Given the description of an element on the screen output the (x, y) to click on. 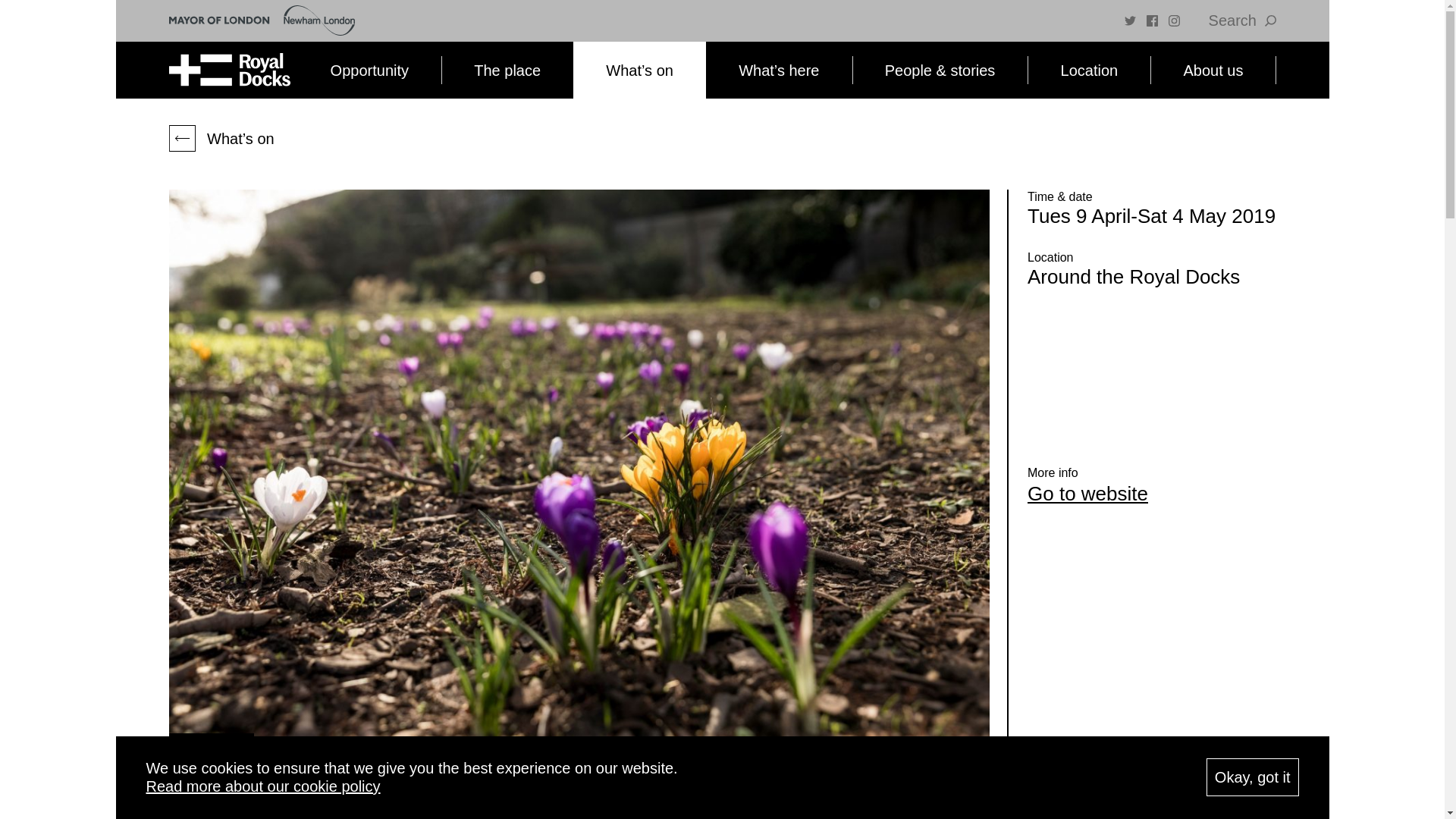
Opportunity (369, 69)
Royal Docks (228, 69)
Location (1088, 69)
Go to website (1087, 493)
The place (507, 69)
About us (1212, 69)
Search (1242, 20)
